Given the description of an element on the screen output the (x, y) to click on. 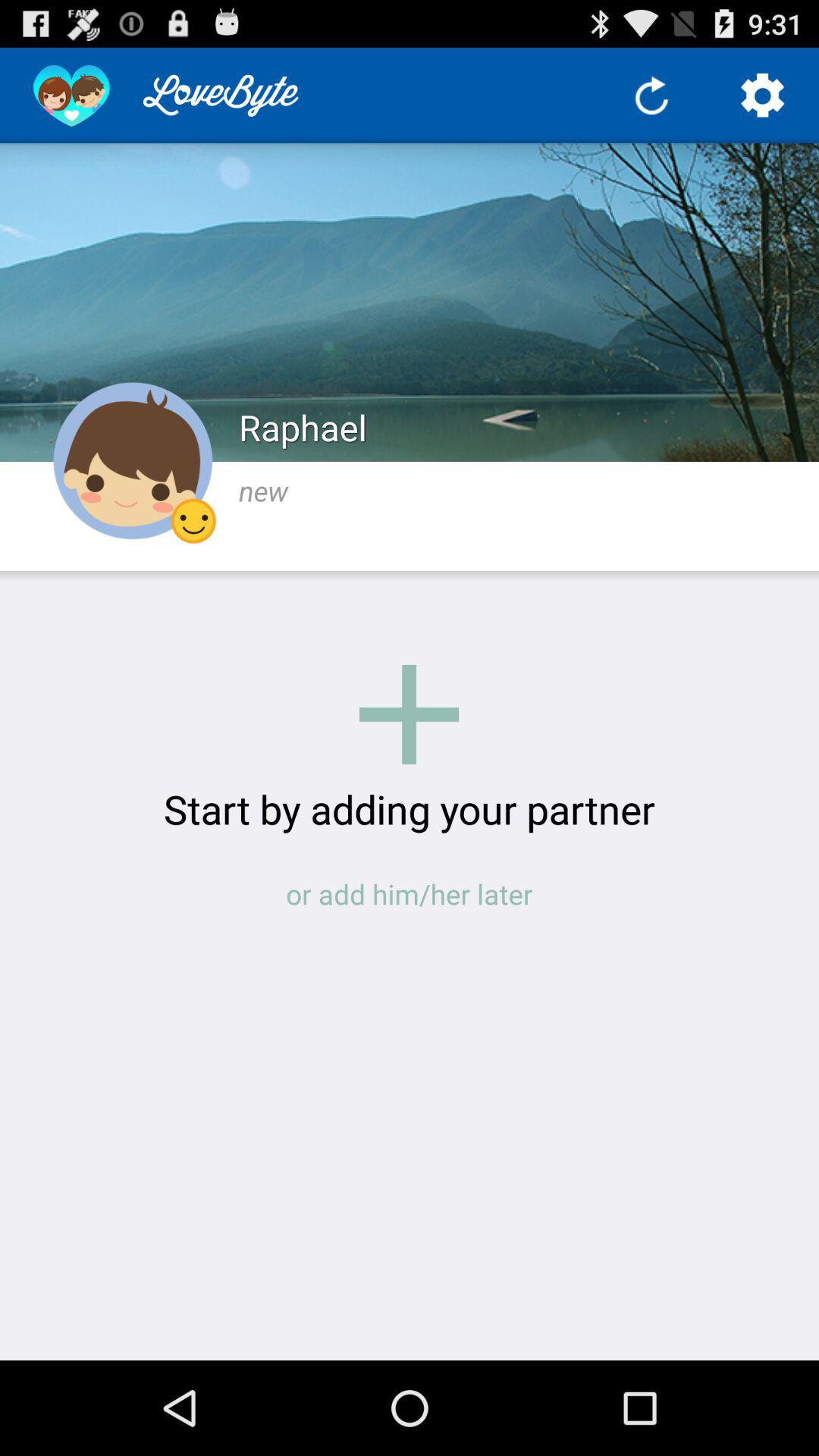
flip to start by adding app (409, 808)
